Given the description of an element on the screen output the (x, y) to click on. 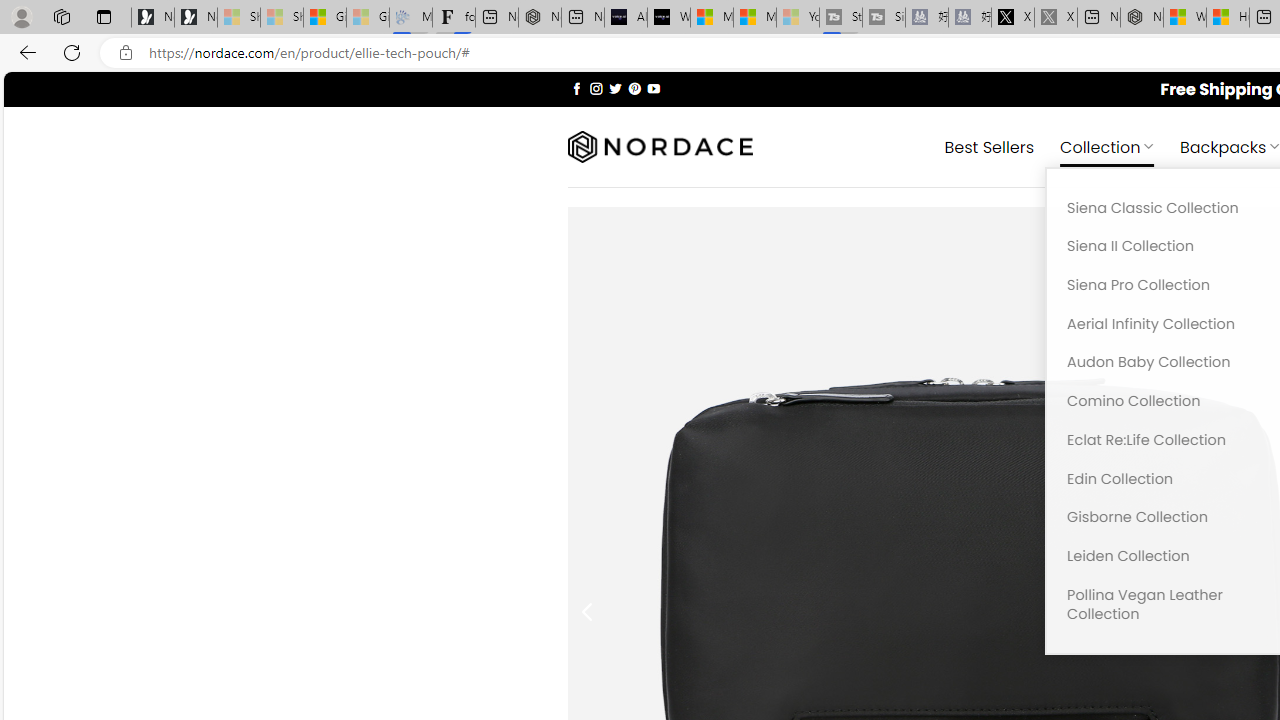
Refresh (72, 52)
Streaming Coverage | T3 - Sleeping (840, 17)
 Best Sellers (989, 146)
Newsletter Sign Up (196, 17)
Follow on Facebook (576, 88)
AI Voice Changer for PC and Mac - Voice.ai (625, 17)
  Best Sellers (989, 146)
Nordace - My Account (1142, 17)
Follow on YouTube (653, 88)
X - Sleeping (1055, 17)
Nordace - #1 Japanese Best-Seller - Siena Smart Backpack (539, 17)
Follow on Twitter (615, 88)
Microsoft Start (754, 17)
